Given the description of an element on the screen output the (x, y) to click on. 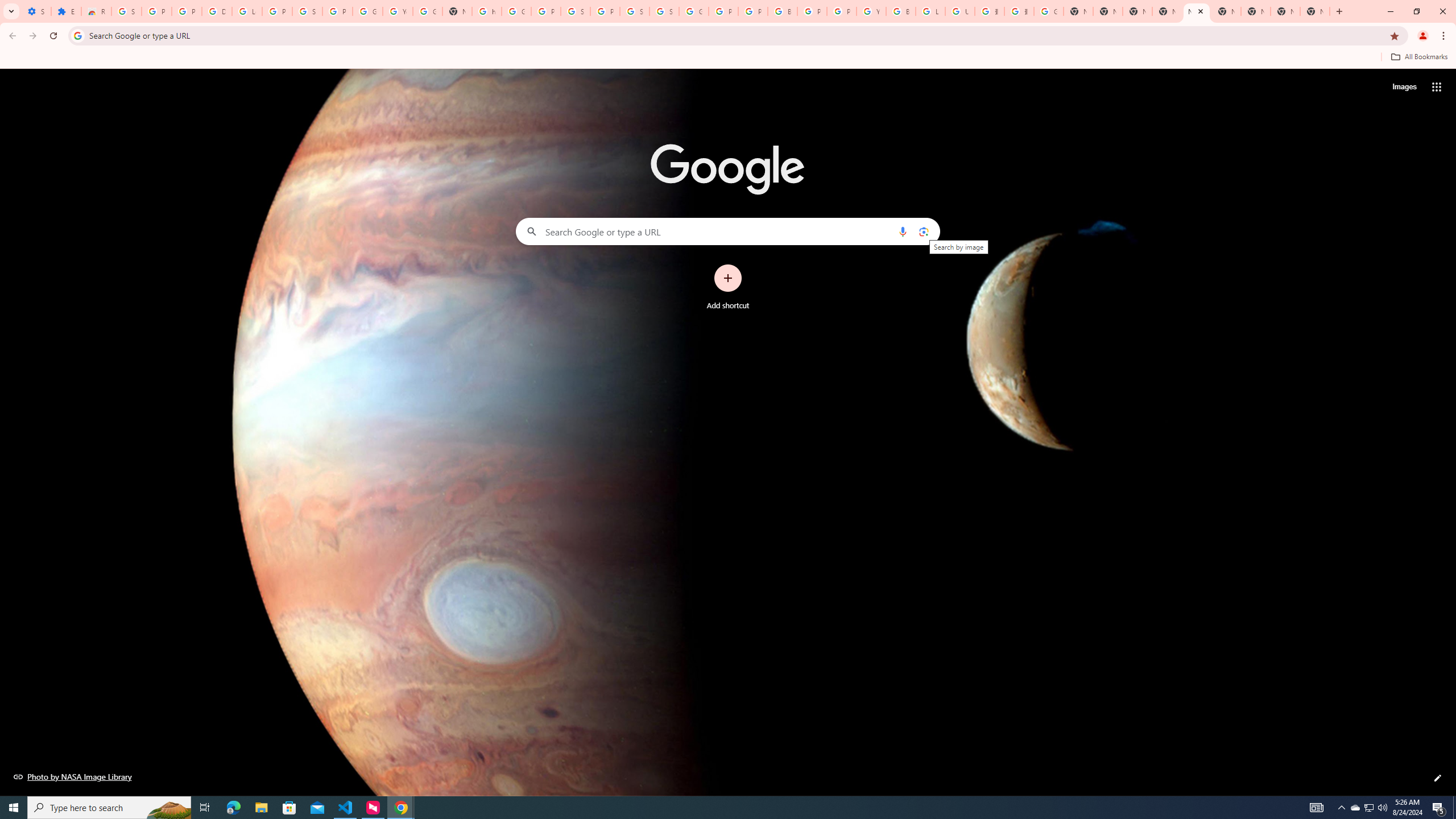
Delete photos & videos - Computer - Google Photos Help (216, 11)
Sign in - Google Accounts (126, 11)
Learn how to find your photos - Google Photos Help (247, 11)
Add shortcut (727, 287)
Sign in - Google Accounts (634, 11)
Bookmarks (728, 58)
Google Images (1048, 11)
Photo by NASA Image Library (72, 776)
